Given the description of an element on the screen output the (x, y) to click on. 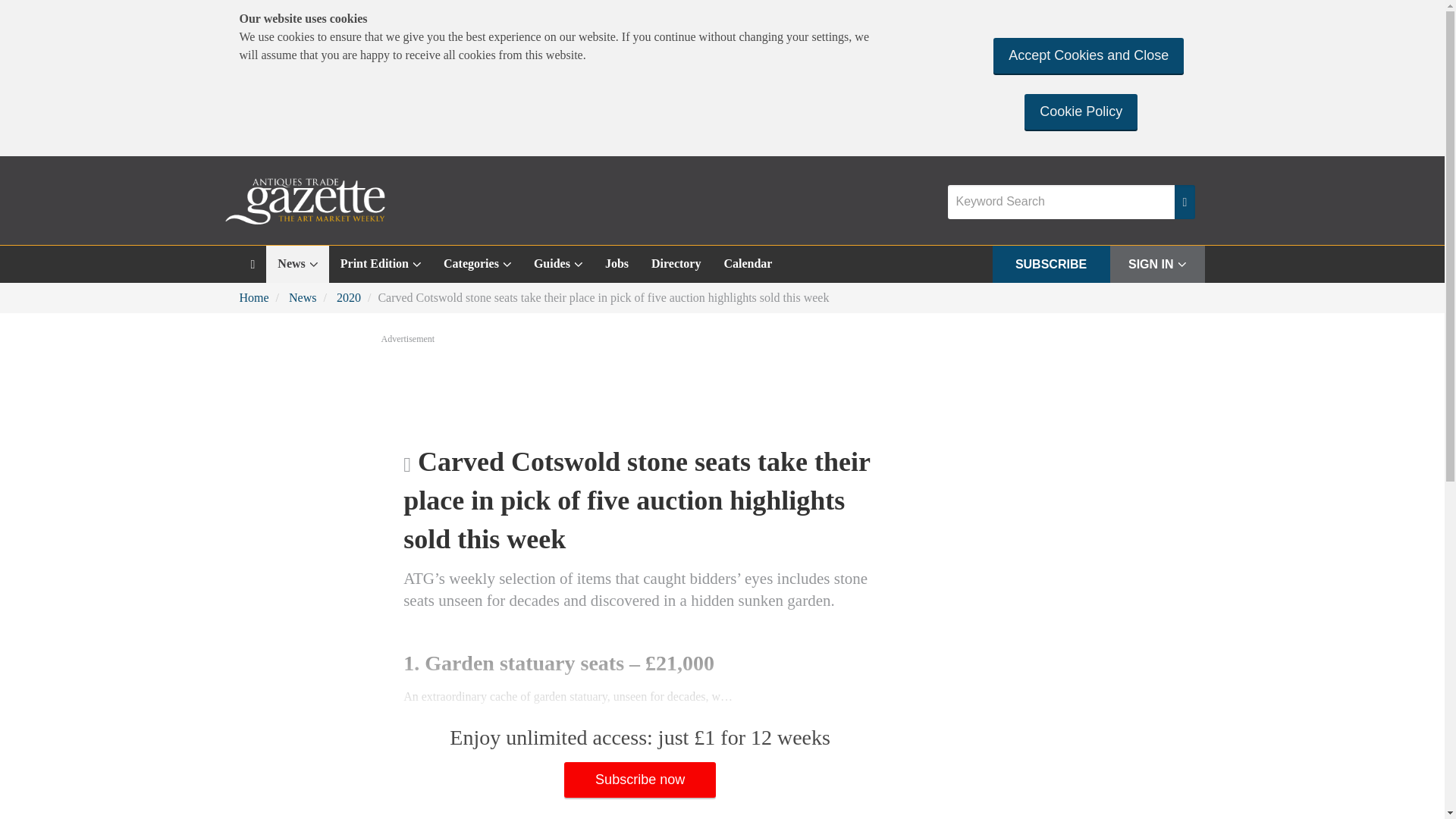
3rd party ad content (721, 387)
Cookie Policy (1081, 111)
News (297, 263)
Keyword Search (1060, 202)
